Given the description of an element on the screen output the (x, y) to click on. 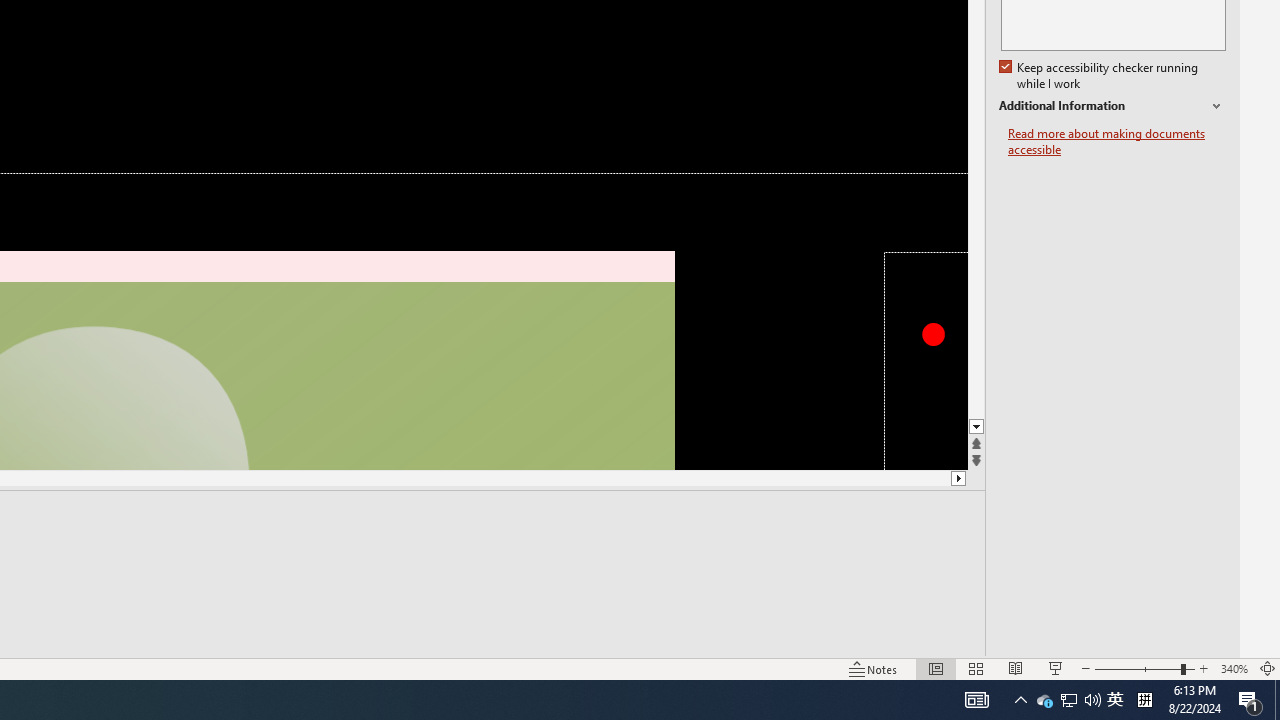
Zoom 340% (1234, 668)
